Given the description of an element on the screen output the (x, y) to click on. 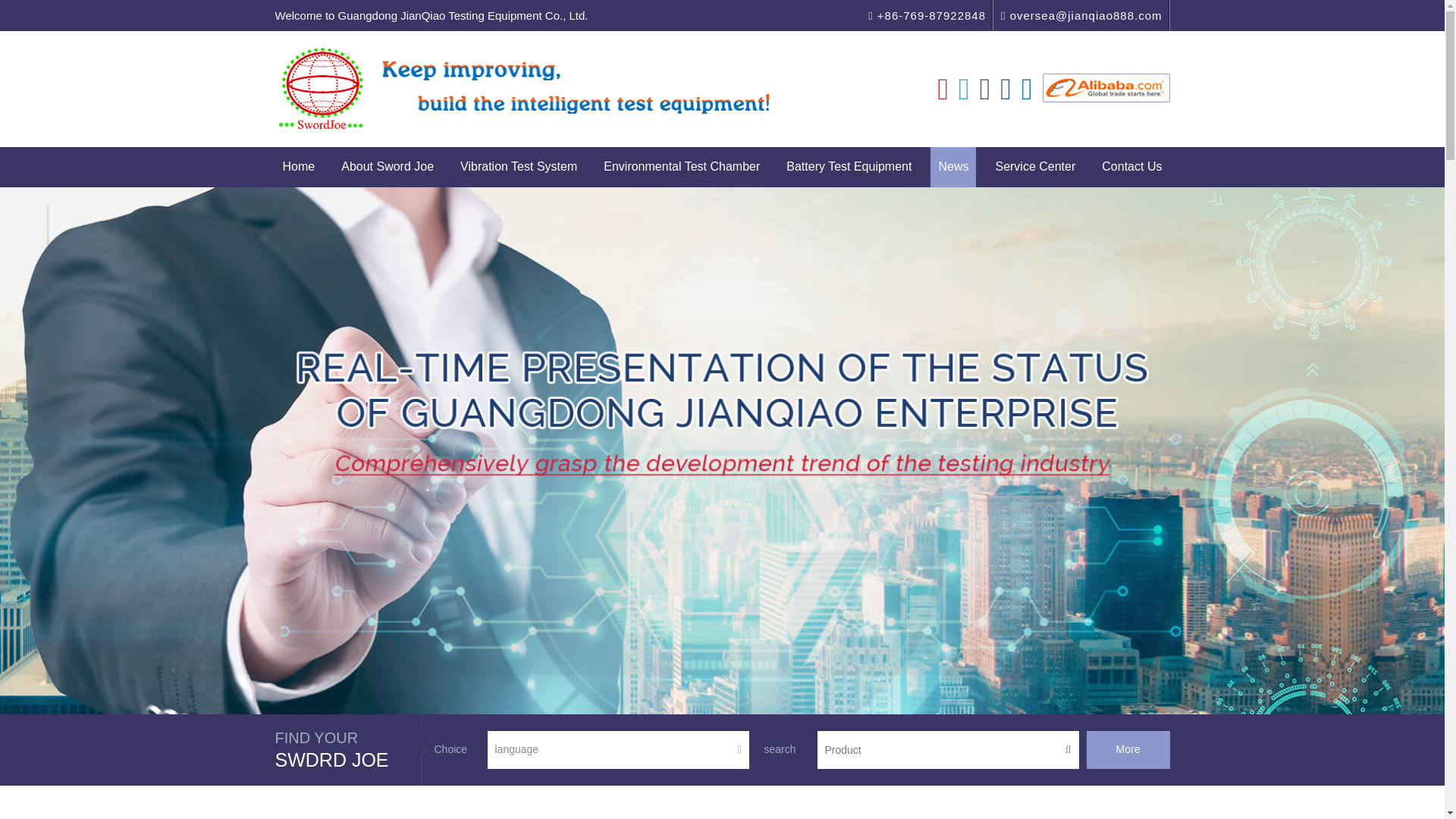
Contact Us (1131, 167)
Vibration Test System (518, 167)
News (952, 167)
More (1127, 750)
Service Center (1035, 167)
Battery Test Equipment (848, 167)
Home (298, 167)
language (617, 750)
About Sword Joe (387, 167)
Environmental Test Chamber (681, 167)
